Given the description of an element on the screen output the (x, y) to click on. 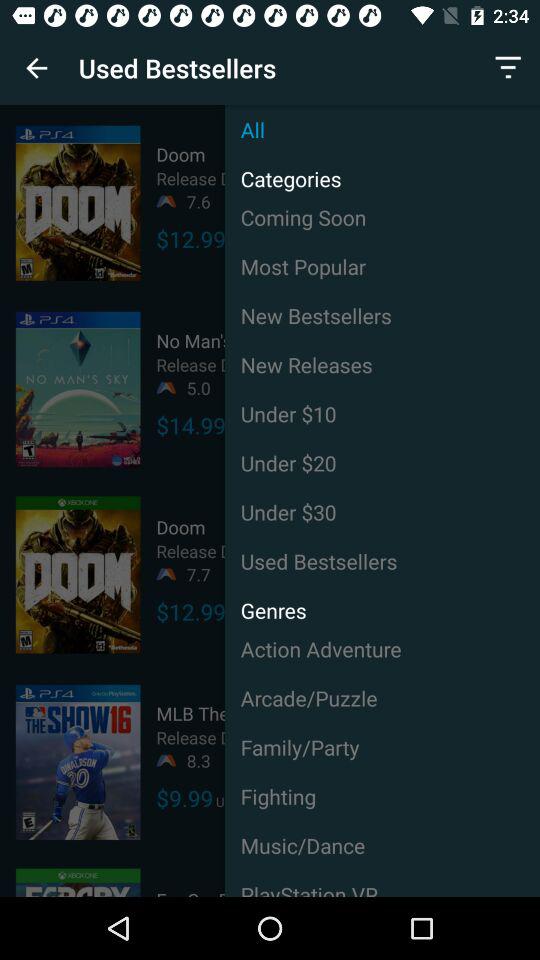
tap the app next to used bestsellers (36, 68)
